Given the description of an element on the screen output the (x, y) to click on. 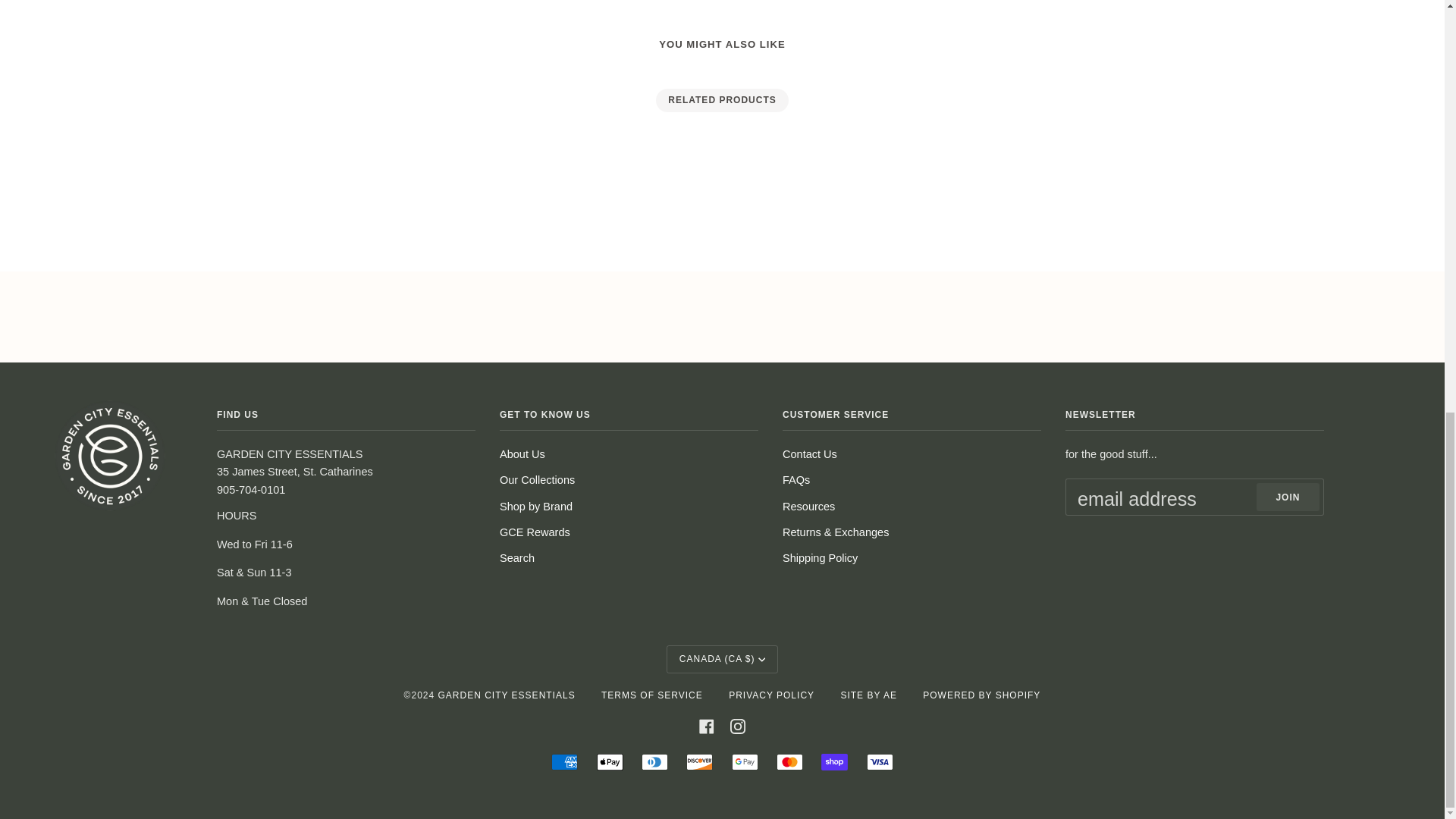
DINERS CLUB (655, 761)
APPLE PAY (609, 761)
AMERICAN EXPRESS (564, 761)
DISCOVER (699, 761)
SHOP PAY (834, 761)
VISA (879, 761)
GOOGLE PAY (745, 761)
RELATED PRODUCTS (721, 100)
MASTERCARD (789, 761)
